Given the description of an element on the screen output the (x, y) to click on. 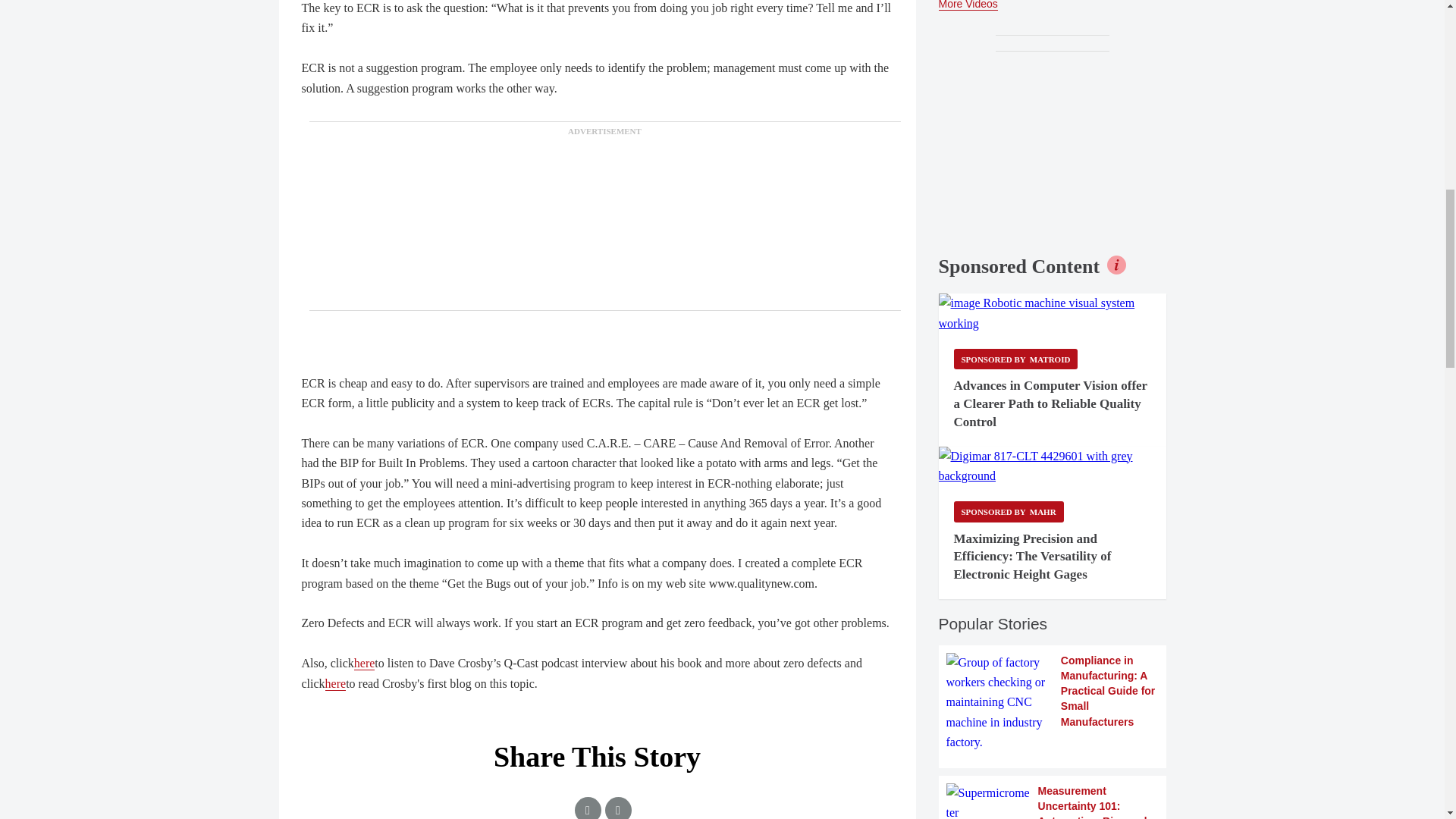
Robotic machine visual system working (1052, 313)
Sponsored by Matroid (1015, 358)
Digimar 817-CLT 4429601 with grey background (1052, 466)
Sponsored by Mahr (1008, 511)
